Given the description of an element on the screen output the (x, y) to click on. 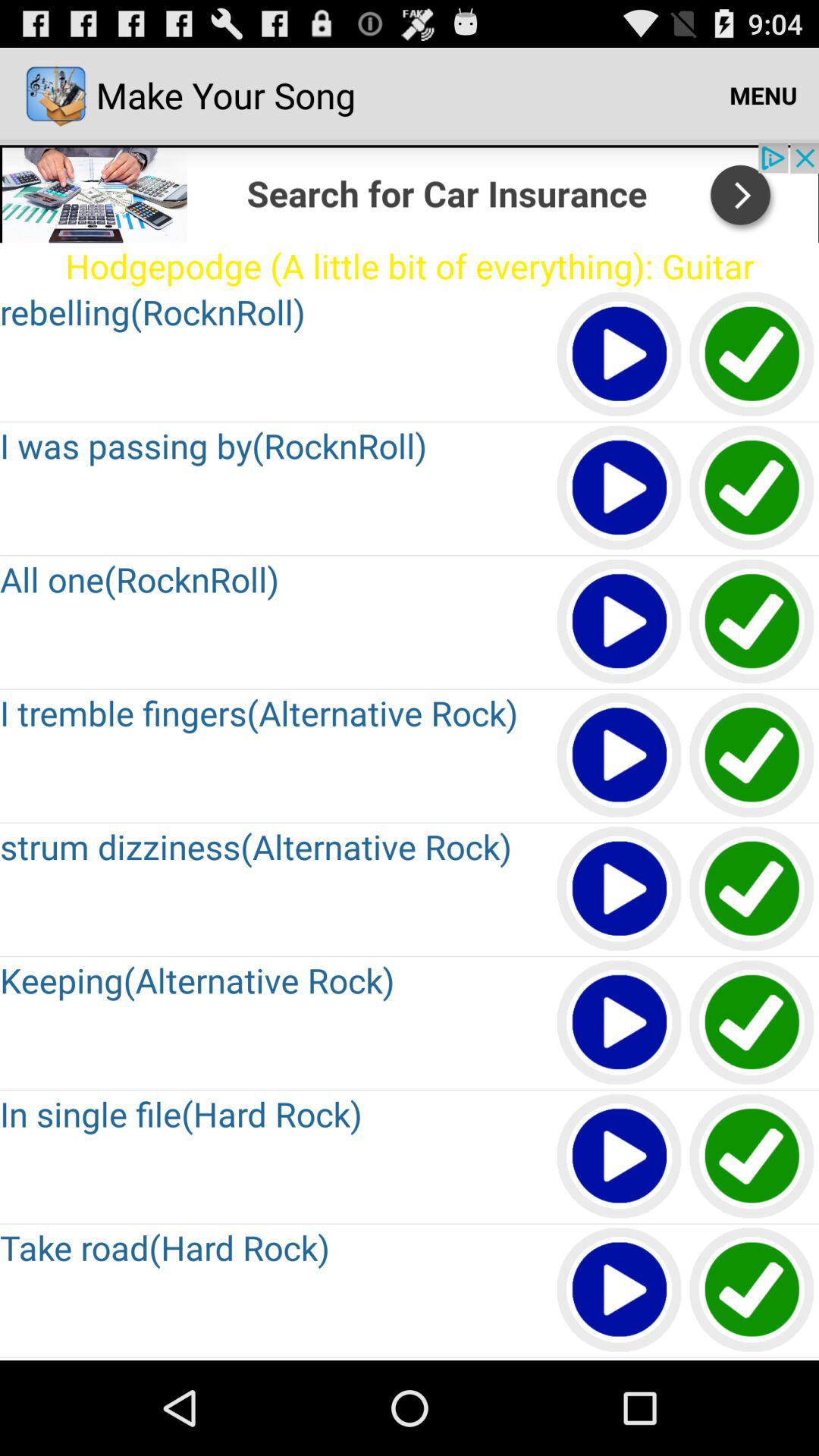
go to tick option (752, 622)
